Given the description of an element on the screen output the (x, y) to click on. 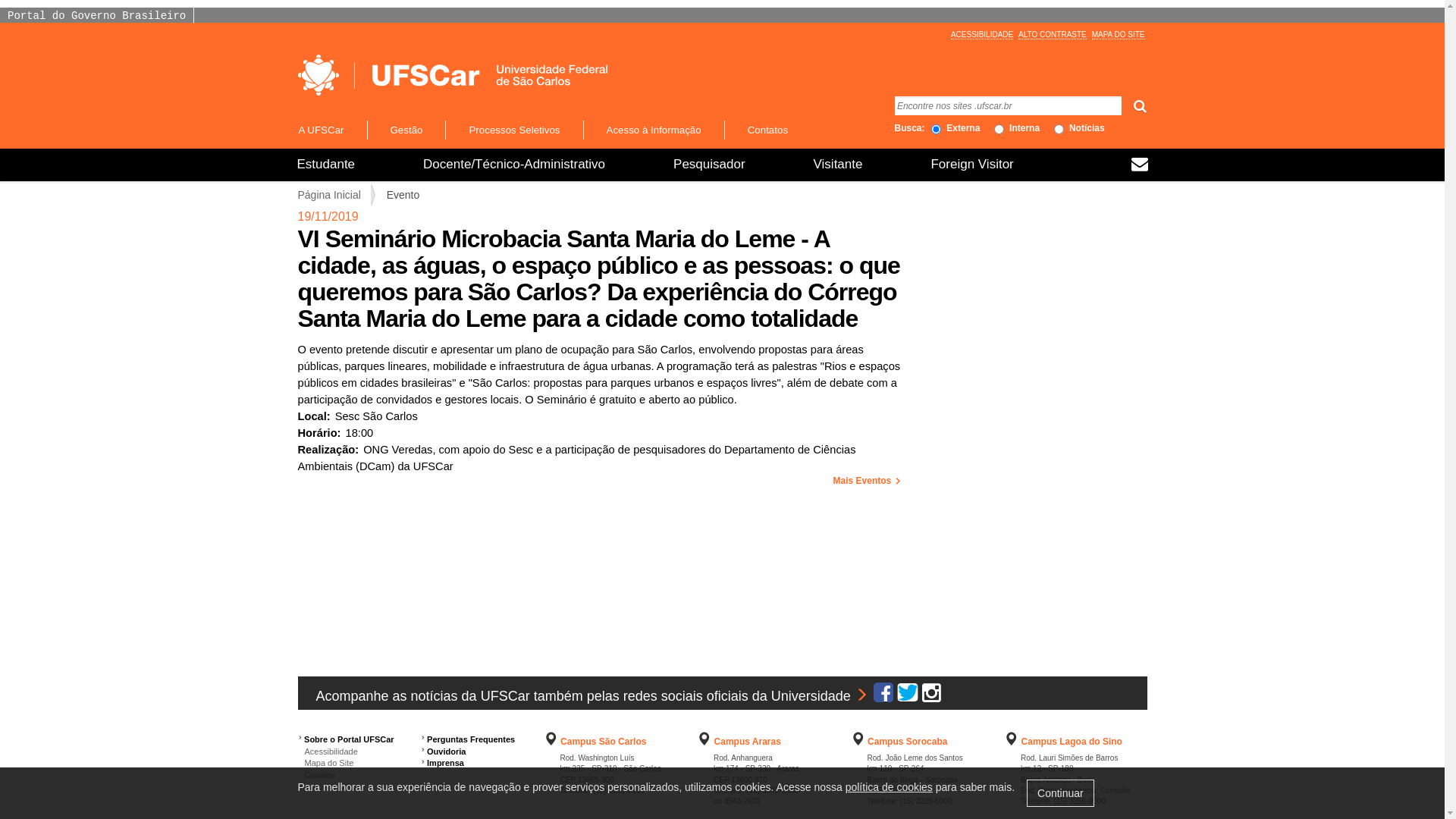
Pesquisador Element type: text (709, 164)
A UFSCar Element type: text (330, 129)
Ouvidoria Element type: text (445, 751)
MAPA DO SITE Element type: text (1118, 34)
Facebook UFSCar Oficial Element type: hover (883, 695)
Foreign Visitor Element type: text (971, 164)
Twitter UFSCar Oficial Element type: hover (907, 695)
Mapa do Site Element type: text (325, 762)
WEBmail Element type: hover (1139, 166)
Imprensa Element type: text (445, 762)
Processos Seletivos Element type: text (513, 129)
Contatos Element type: text (767, 129)
Instagram UFSCar Oficial Element type: hover (931, 695)
Campus Sorocaba Element type: text (907, 741)
Encontre nos sites .ufscar.br Element type: hover (1008, 105)
Continuar Element type: text (1060, 793)
Consulte Element type: text (1114, 790)
ALTO CONTRASTE Element type: text (1052, 34)
ACESSIBILIDADE Element type: text (981, 34)
Campus Lagoa do Sino Element type: text (1071, 741)
Acessibilidade Element type: text (327, 751)
Portal do Governo Brasileiro Element type: text (96, 15)
Visitante Element type: text (838, 164)
Campus Araras Element type: text (747, 741)
UFSCar Element type: hover (451, 74)
Mais Eventos Element type: text (867, 480)
Universidade Federal de Sao Carlos Element type: hover (409, 74)
Perguntas Frequentes Element type: text (470, 738)
Estudante Element type: text (325, 164)
